Given the description of an element on the screen output the (x, y) to click on. 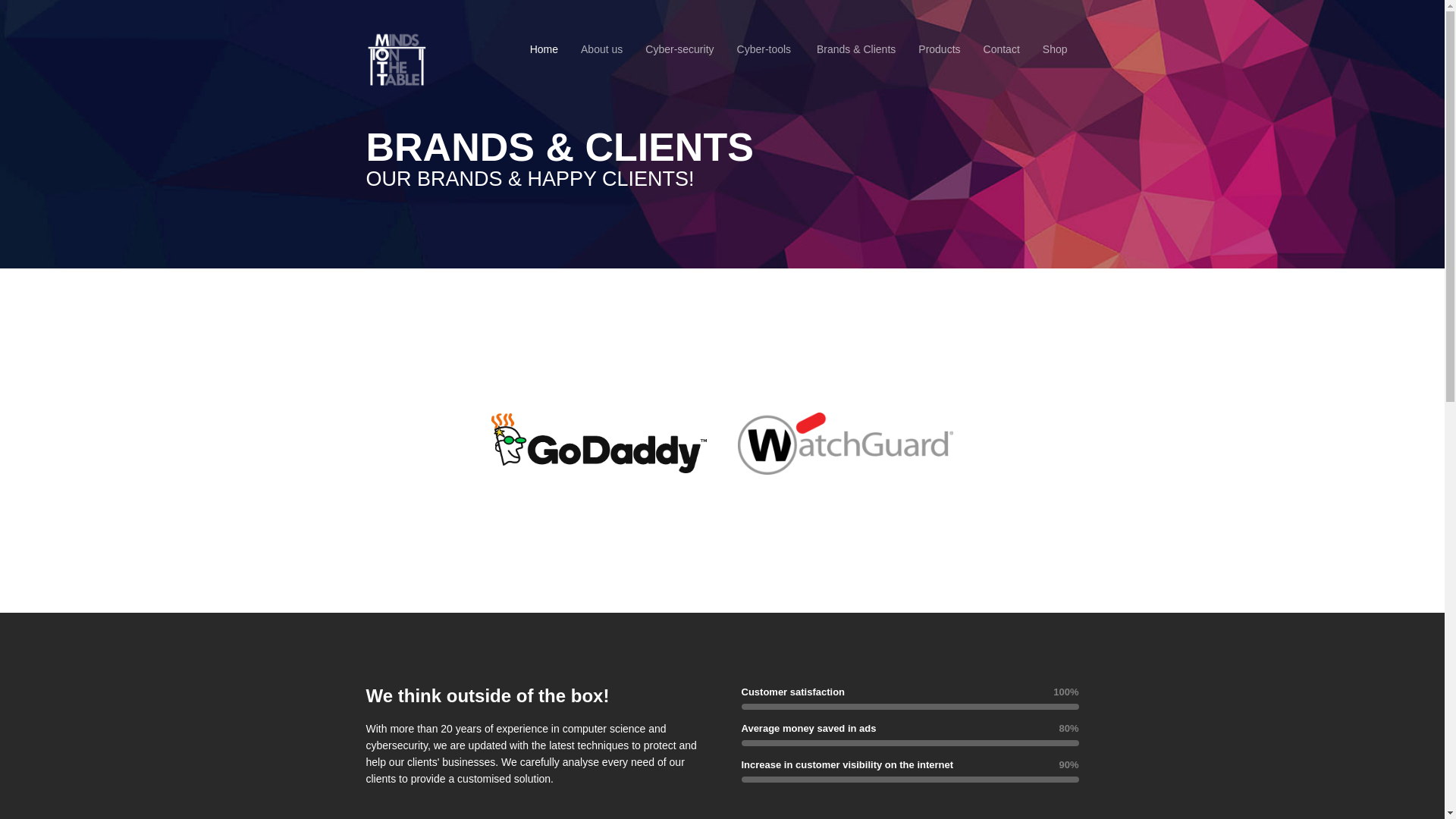
Cyber-security Element type: text (678, 49)
Cyber-tools Element type: text (764, 49)
Shop Element type: text (1055, 49)
About us Element type: text (601, 49)
Home Element type: text (543, 49)
Brands & Clients Element type: text (855, 49)
Contact Element type: text (1001, 49)
Products Element type: text (938, 49)
